Given the description of an element on the screen output the (x, y) to click on. 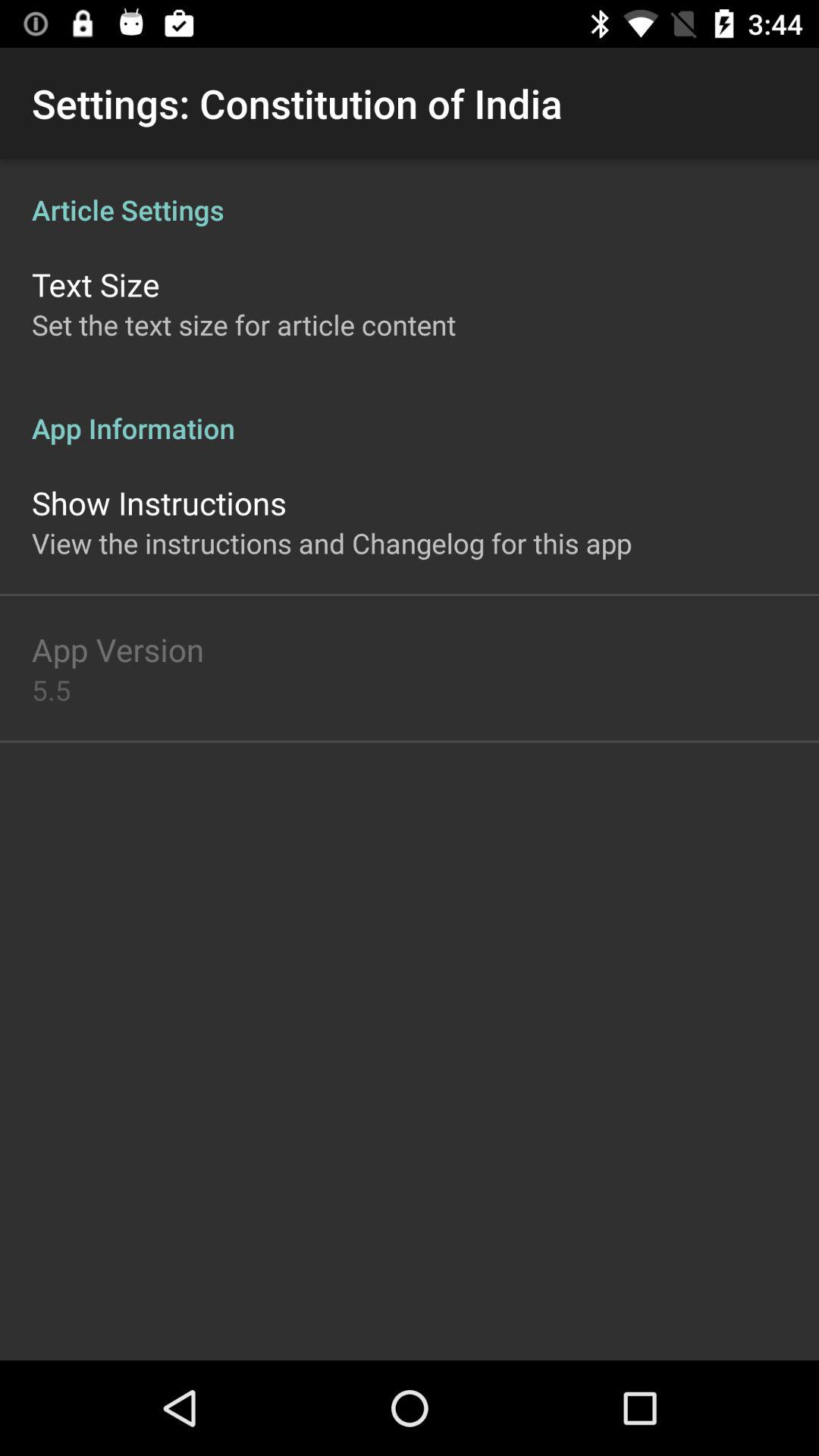
jump until view the instructions (331, 542)
